Given the description of an element on the screen output the (x, y) to click on. 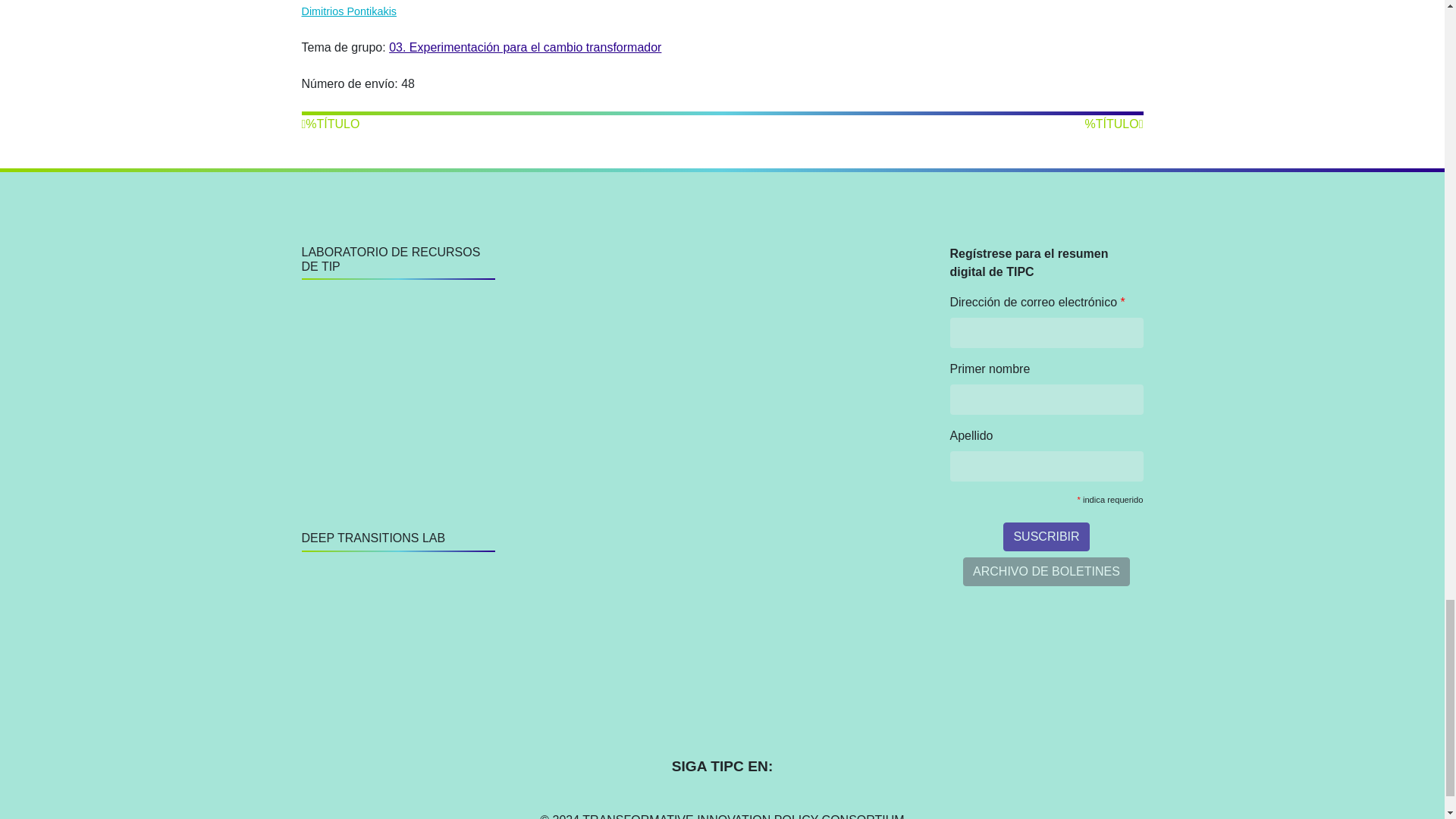
Suscribir (1046, 536)
ARCHIVO DE BOLETINES (1045, 571)
Dimitrios Pontikakis (349, 10)
Suscribir (1046, 536)
ARCHIVO DE BOLETINES (1045, 571)
